Given the description of an element on the screen output the (x, y) to click on. 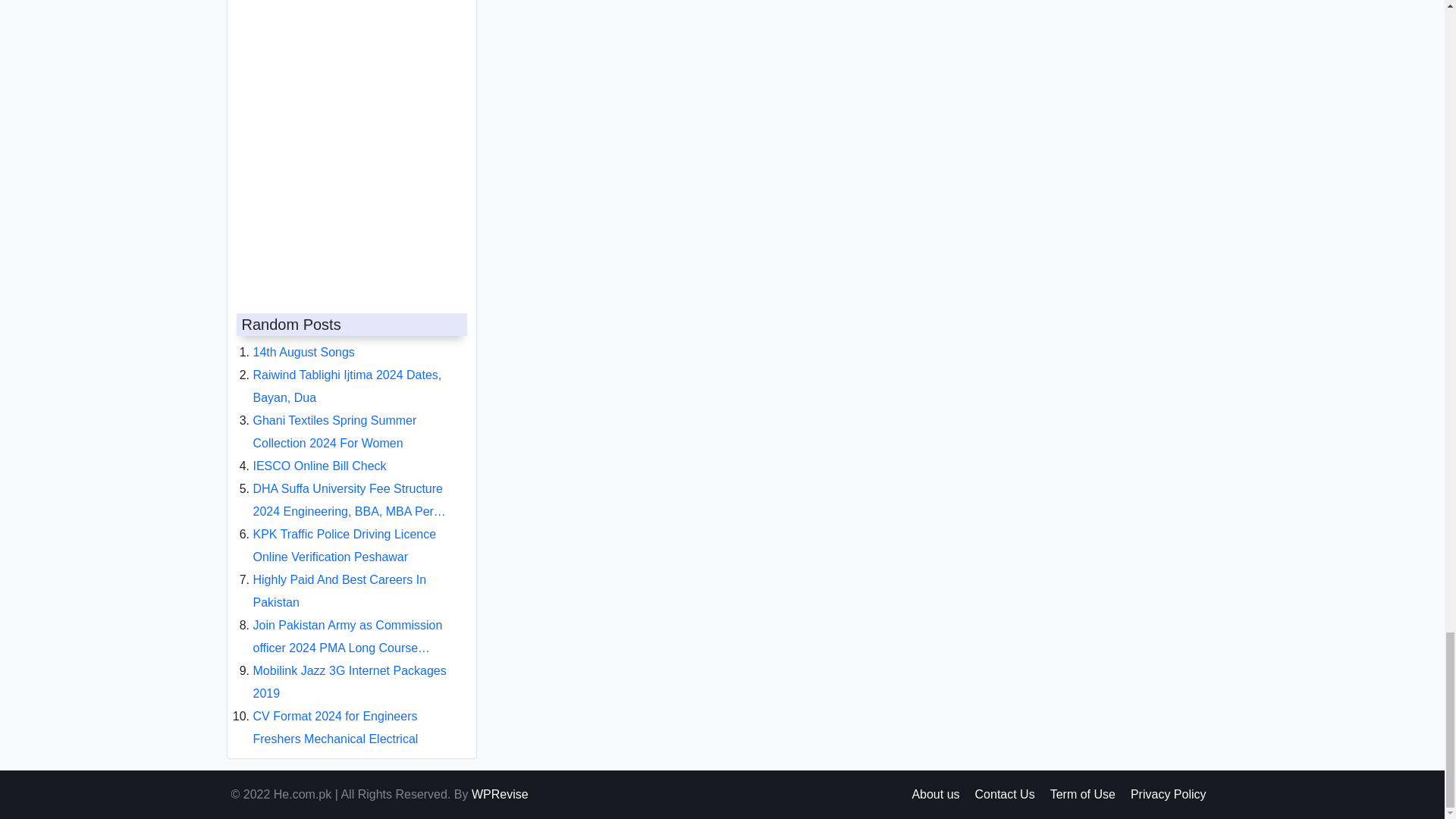
14th August Songs (304, 339)
Raiwind Tablighi Ijtima 2024 Dates, Bayan, Dua (347, 374)
Mobilink Jazz 3G Internet Packages 2019 (349, 669)
Highly Paid And Best Careers In Pakistan (339, 579)
Ghani Textiles Spring Summer Collection 2024 For Women (334, 419)
IESCO Online Bill Check (320, 453)
WPRevise (499, 793)
About us (935, 793)
CV Format 2024 for Engineers Freshers Mechanical Electrical (336, 715)
